Given the description of an element on the screen output the (x, y) to click on. 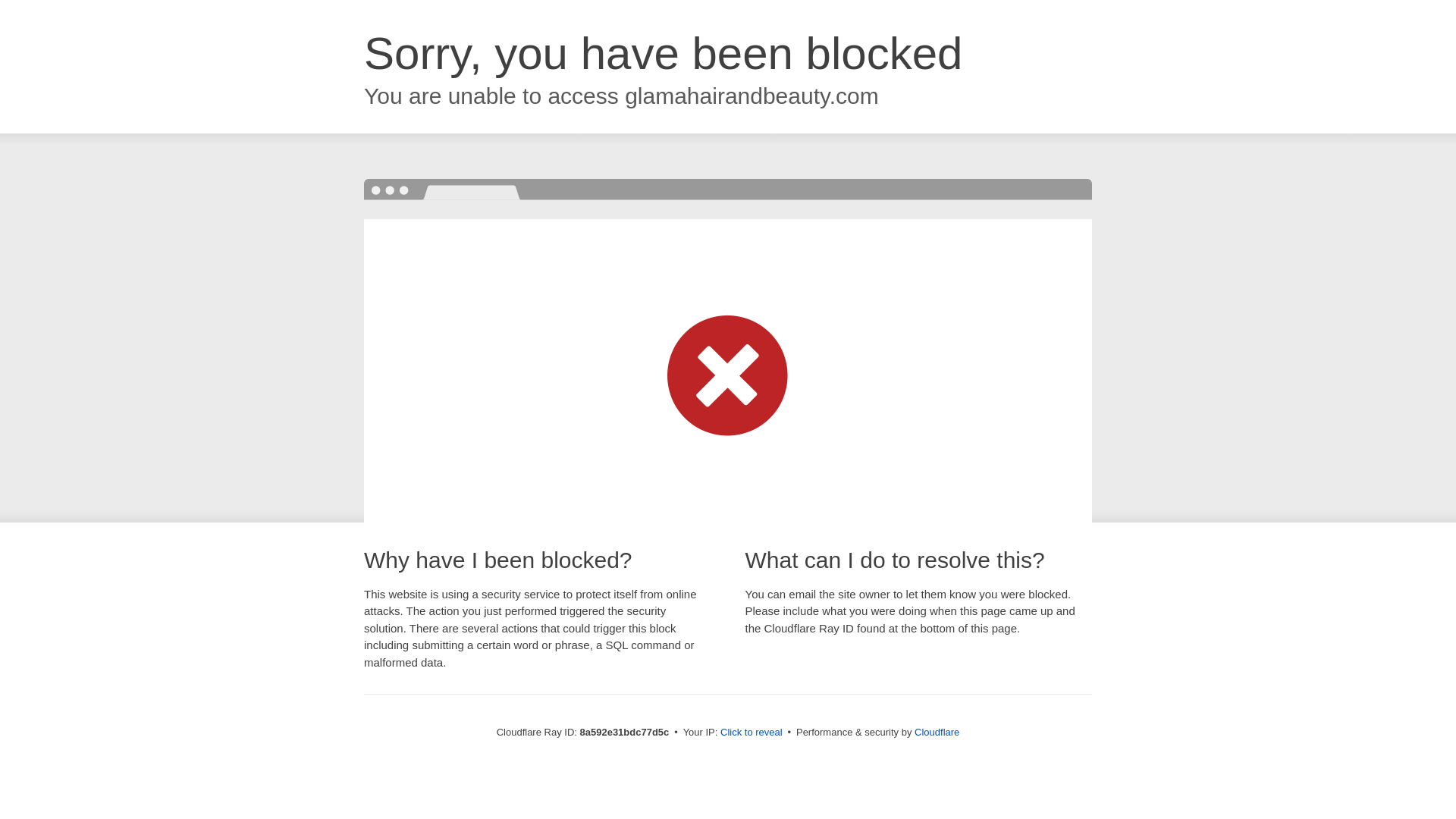
Cloudflare (936, 731)
Click to reveal (751, 732)
